Given the description of an element on the screen output the (x, y) to click on. 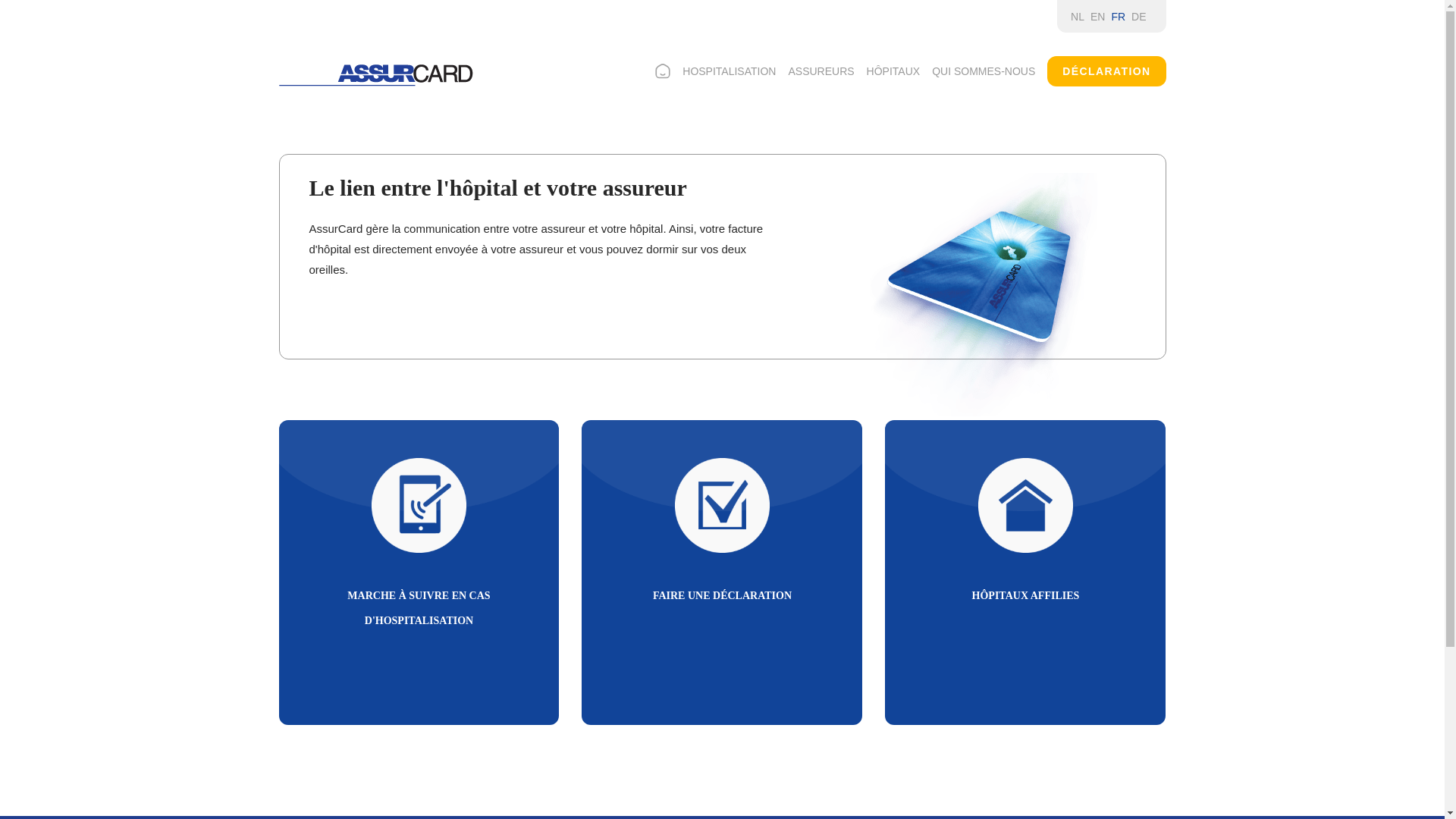
Accueil Element type: hover (376, 74)
HOME Element type: text (662, 70)
Aller au contenu principal Element type: text (0, 0)
DE Element type: text (1138, 16)
ASSUREURS Element type: text (820, 70)
FR Element type: text (1117, 16)
EN Element type: text (1097, 16)
NL Element type: text (1077, 16)
HOSPITALISATION Element type: text (728, 70)
QUI SOMMES-NOUS Element type: text (983, 70)
